Given the description of an element on the screen output the (x, y) to click on. 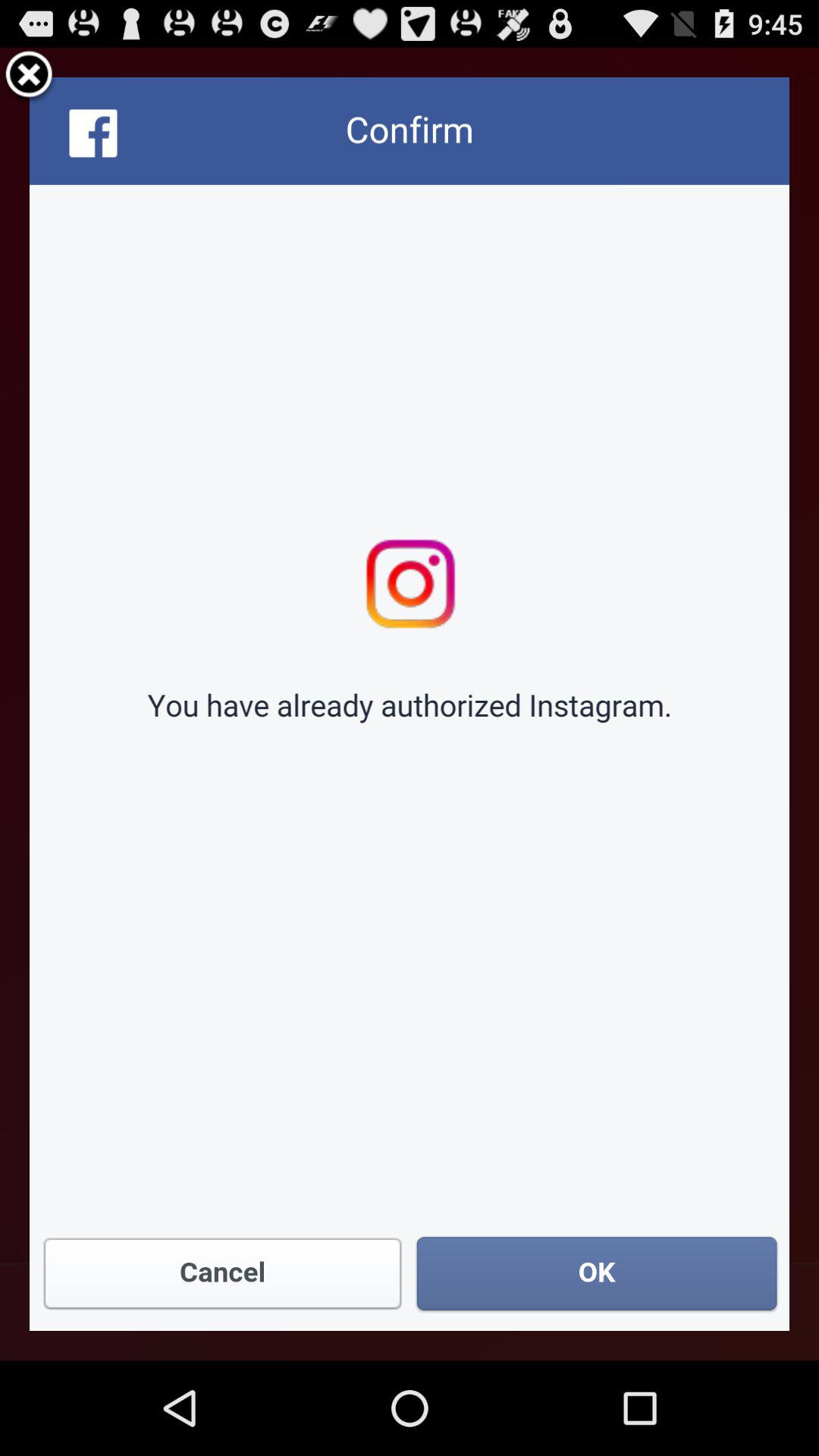
advertisement (409, 703)
